Given the description of an element on the screen output the (x, y) to click on. 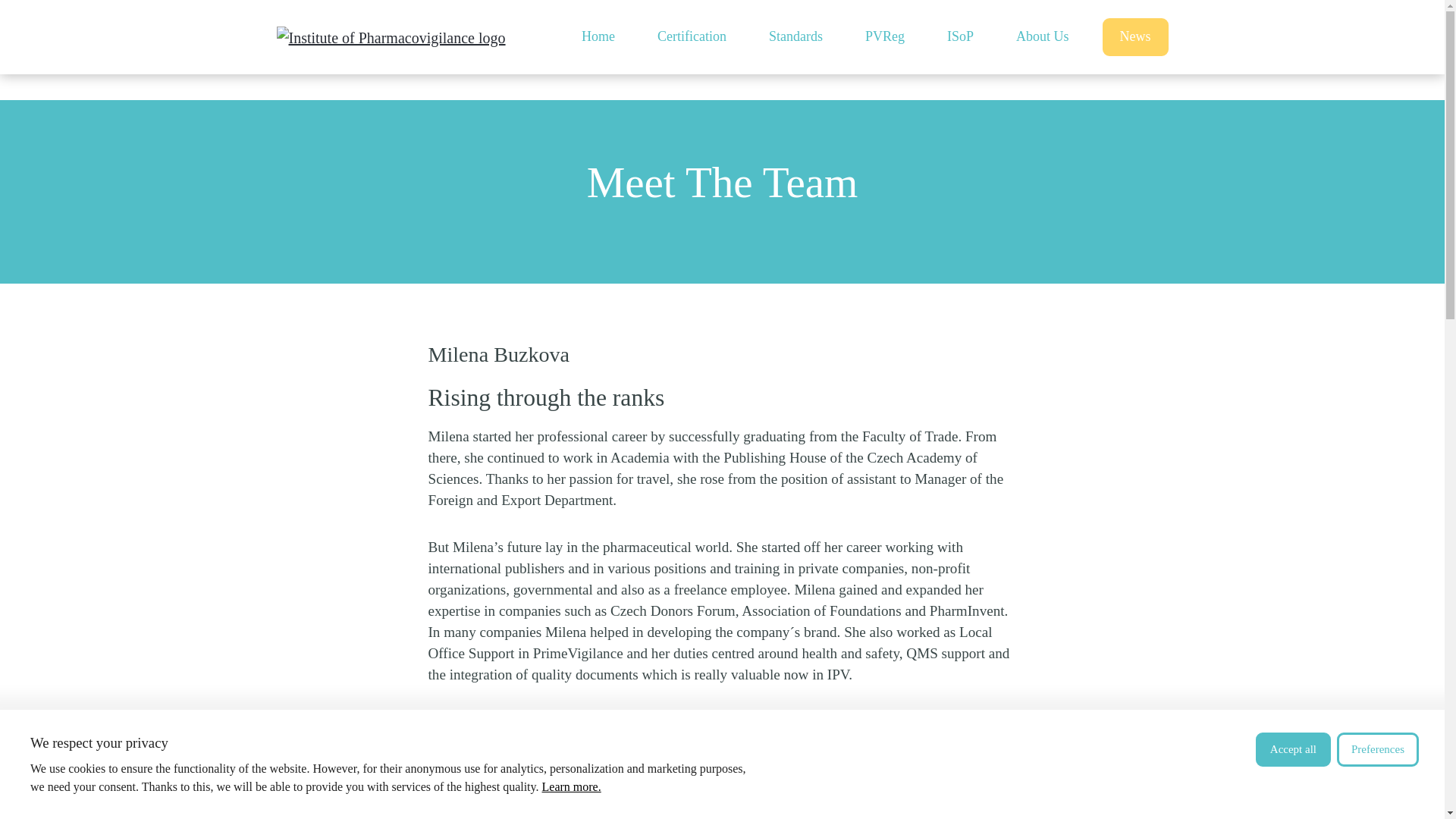
Home (598, 37)
Preferences (1377, 749)
Accept all (1292, 749)
Certification (691, 37)
News (1135, 37)
PVReg (885, 37)
ISoP (959, 37)
Standards (796, 37)
About Us (1042, 37)
Learn more. (571, 786)
